Given the description of an element on the screen output the (x, y) to click on. 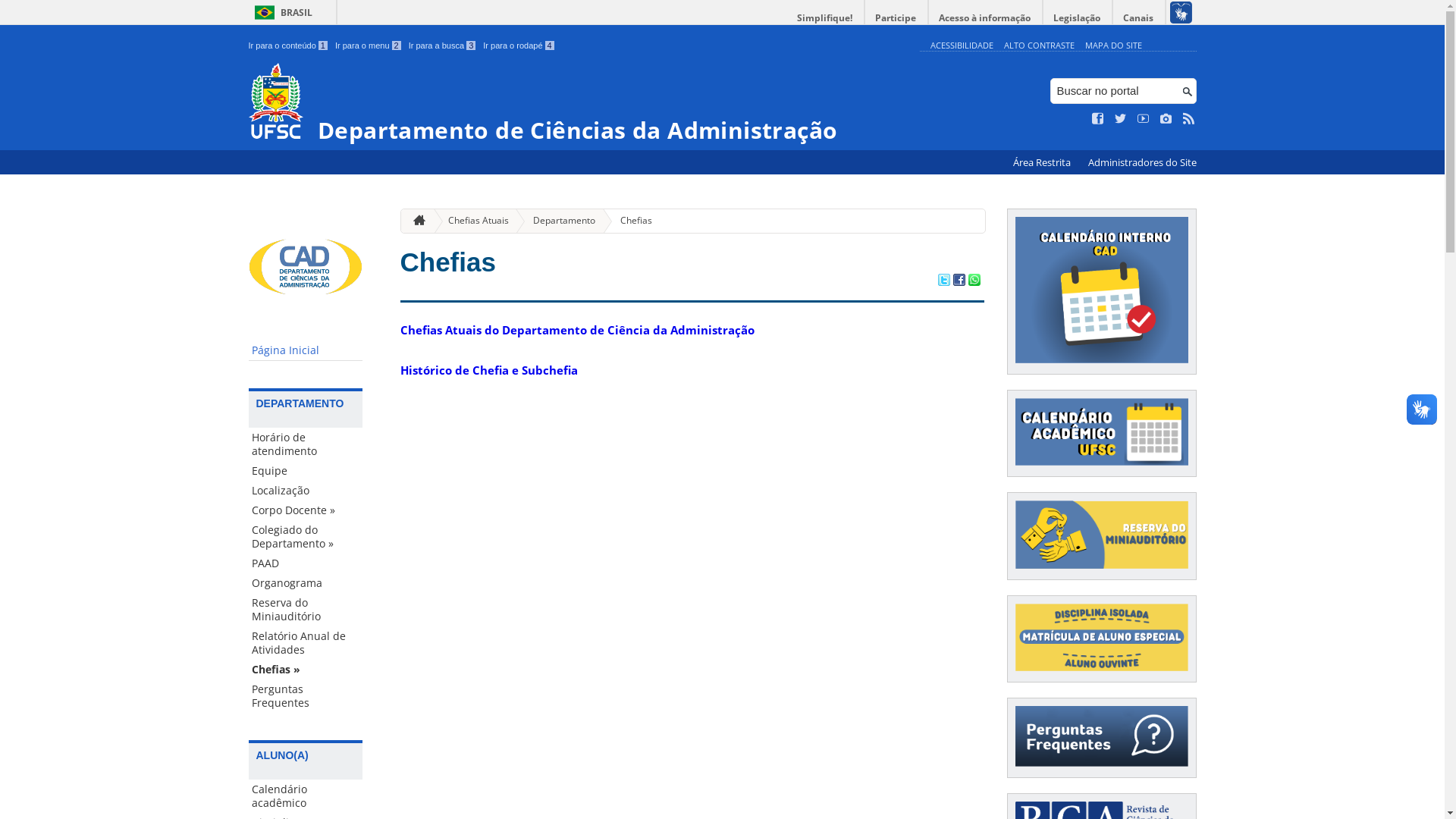
Curta no Facebook Element type: hover (1098, 118)
Departamento Element type: text (557, 220)
Chefias Element type: text (630, 220)
Compartilhar no WhatsApp Element type: hover (973, 280)
Compartilhar no Twitter Element type: hover (943, 280)
Siga no Twitter Element type: hover (1120, 118)
BRASIL Element type: text (280, 12)
Administradores do Site Element type: text (1141, 162)
Chefias Atuais Element type: text (471, 220)
Ir para a busca 3 Element type: text (442, 45)
Participe Element type: text (895, 18)
ALTO CONTRASTE Element type: text (1039, 44)
Simplifique! Element type: text (825, 18)
Canais Element type: text (1138, 18)
MAPA DO SITE Element type: text (1112, 44)
Perguntas Frequentes Element type: text (305, 695)
PAAD Element type: text (305, 563)
Ir para o menu 2 Element type: text (368, 45)
Veja no Instagram Element type: hover (1166, 118)
Equipe Element type: text (305, 470)
Compartilhar no Facebook Element type: hover (958, 280)
Organograma Element type: text (305, 583)
ACESSIBILIDADE Element type: text (960, 44)
Chefias Element type: text (447, 261)
